Given the description of an element on the screen output the (x, y) to click on. 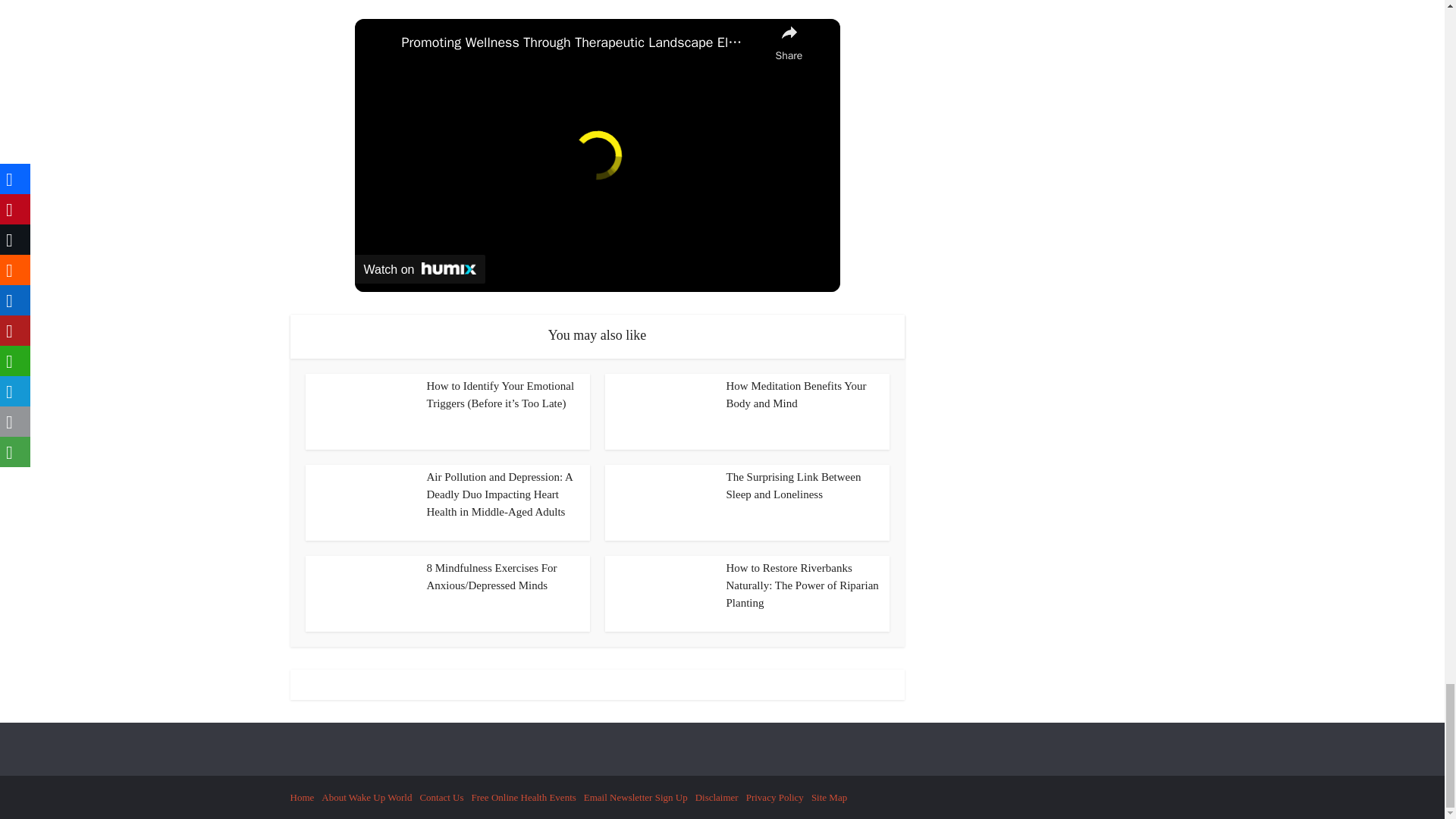
How Meditation Benefits Your Body and Mind (796, 394)
share (789, 42)
